Given the description of an element on the screen output the (x, y) to click on. 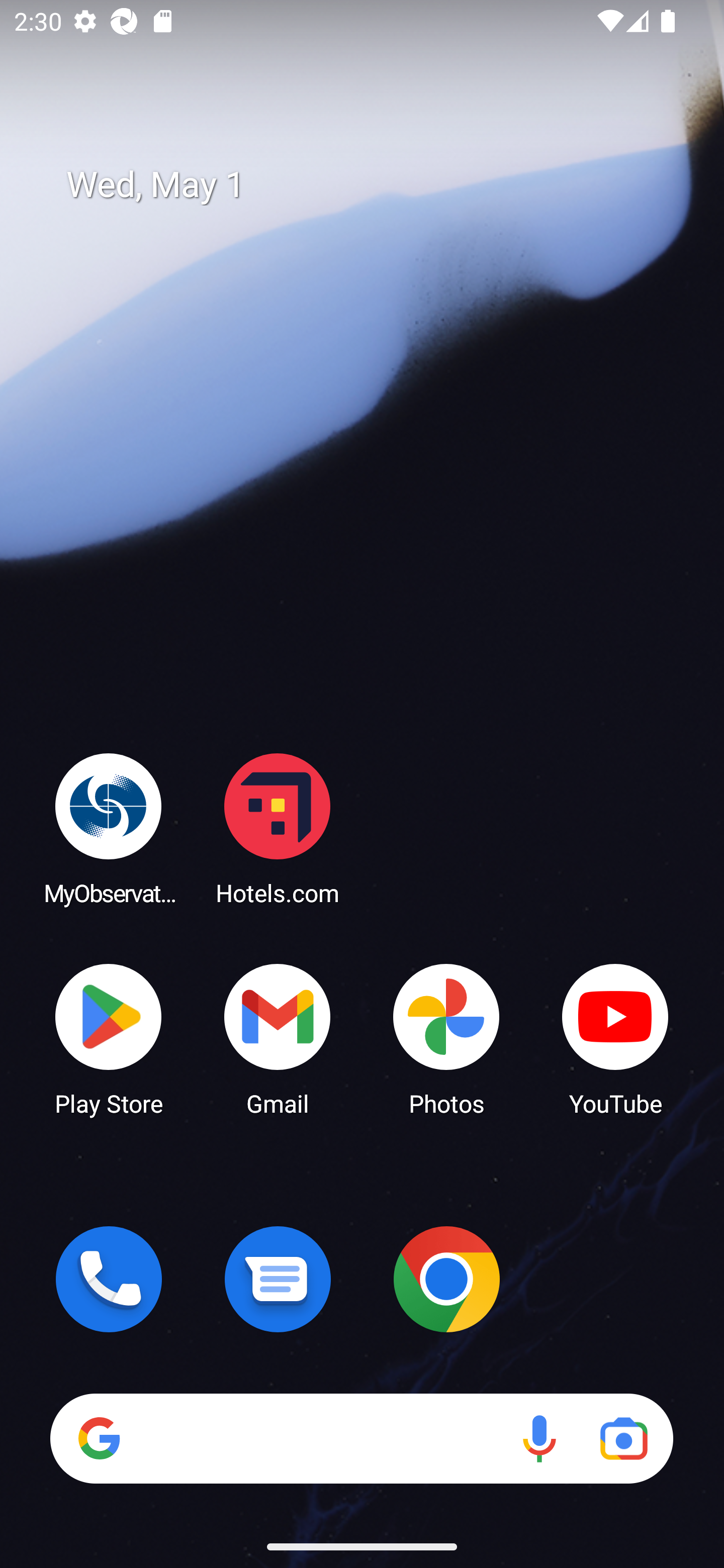
Wed, May 1 (375, 184)
MyObservatory (108, 828)
Hotels.com (277, 828)
Play Store (108, 1038)
Gmail (277, 1038)
Photos (445, 1038)
YouTube (615, 1038)
Phone (108, 1279)
Messages (277, 1279)
Chrome (446, 1279)
Search Voice search Google Lens (361, 1438)
Voice search (539, 1438)
Google Lens (623, 1438)
